Given the description of an element on the screen output the (x, y) to click on. 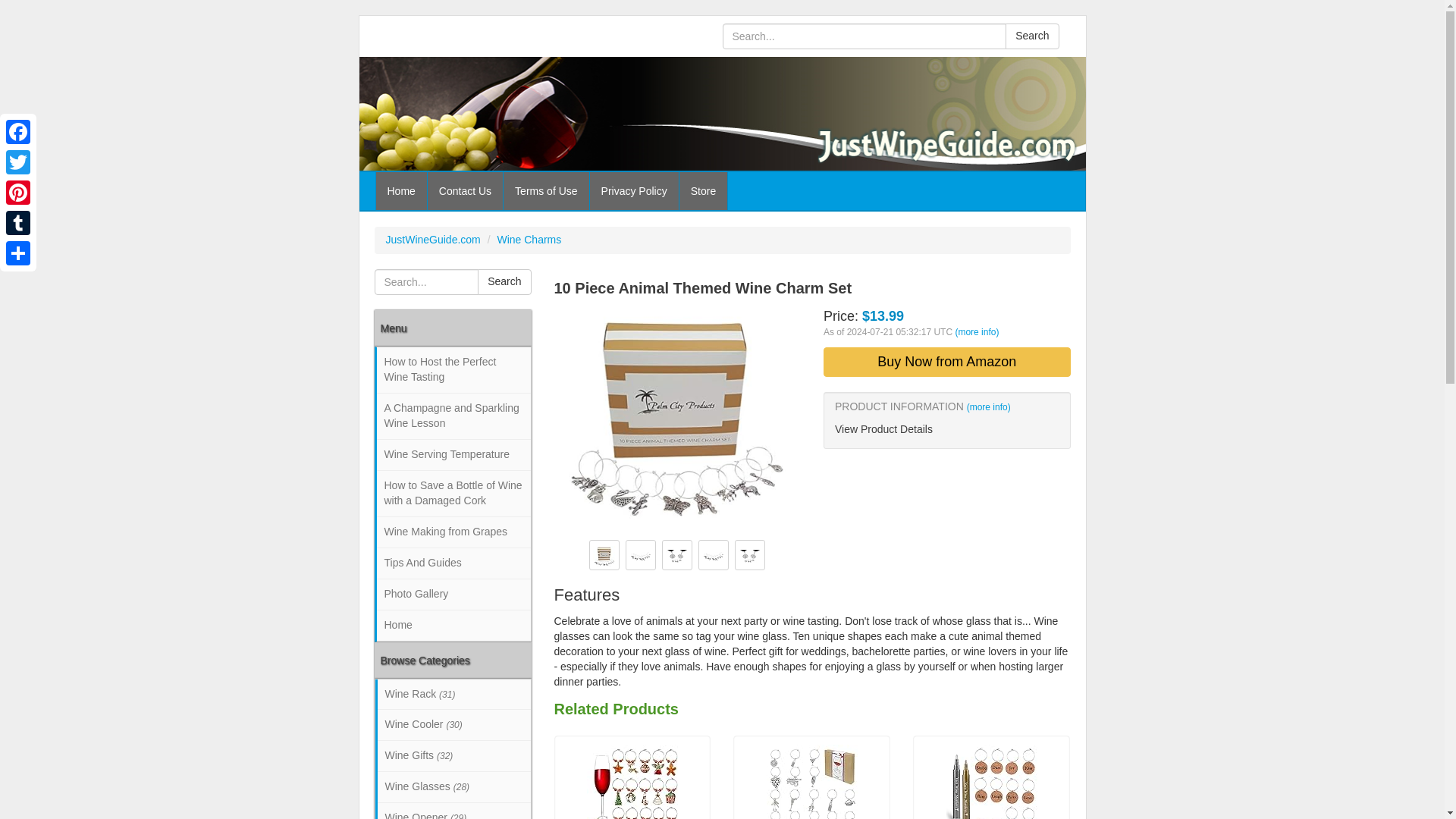
View Product Details (946, 429)
Search (504, 281)
Store (702, 190)
JustWineGuide.com (432, 239)
Search (1032, 36)
Privacy Policy (633, 190)
Terms of Use (545, 190)
Buy Now from Amazon (947, 362)
Search (1032, 36)
Home (400, 190)
Contact Us (465, 190)
Wine Charms (528, 239)
